Given the description of an element on the screen output the (x, y) to click on. 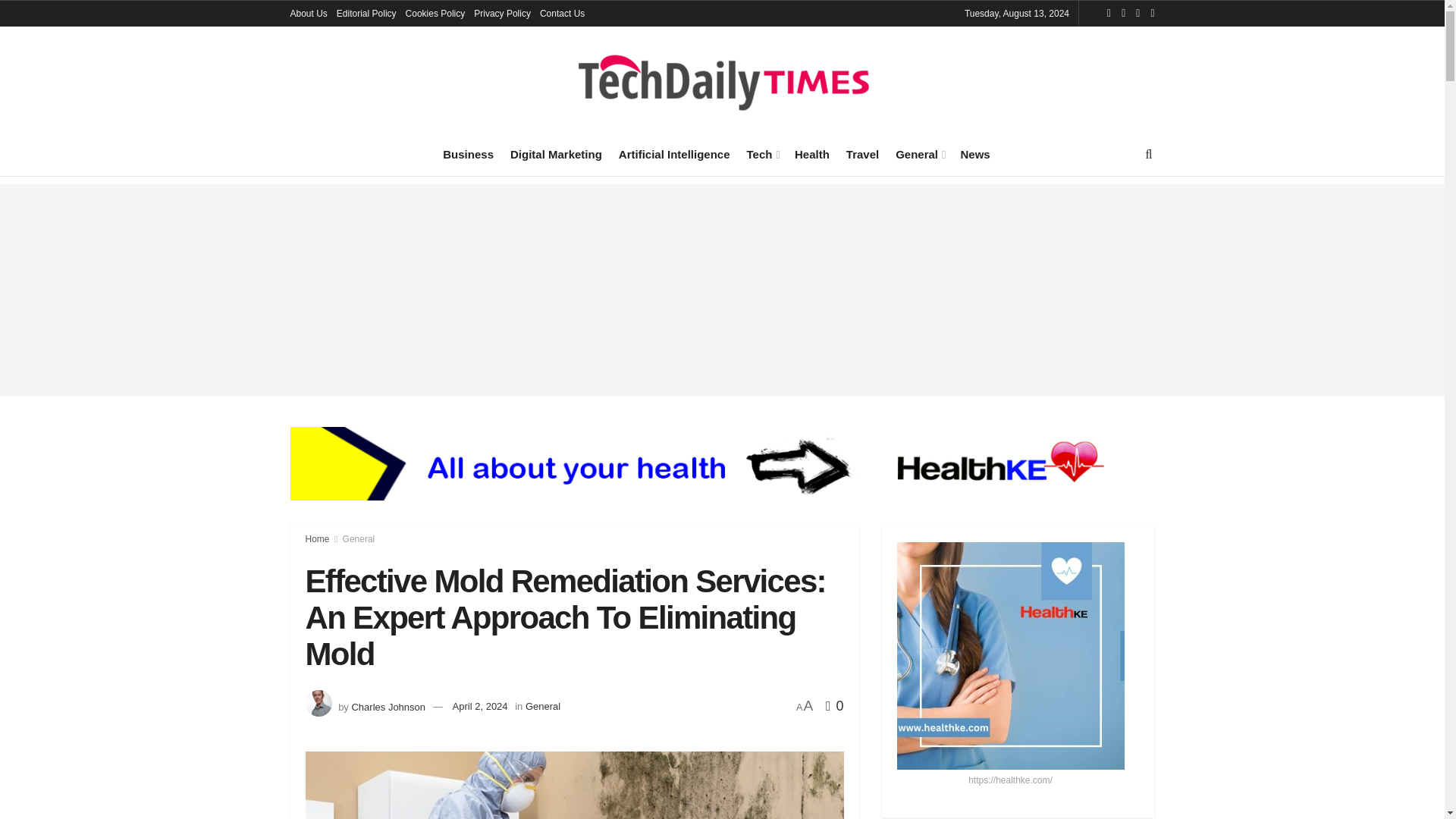
General (919, 154)
Cookies Policy (435, 13)
Business (467, 154)
Privacy Policy (502, 13)
Editorial Policy (366, 13)
Artificial Intelligence (674, 154)
Contact Us (562, 13)
Digital Marketing (556, 154)
About Us (307, 13)
